Given the description of an element on the screen output the (x, y) to click on. 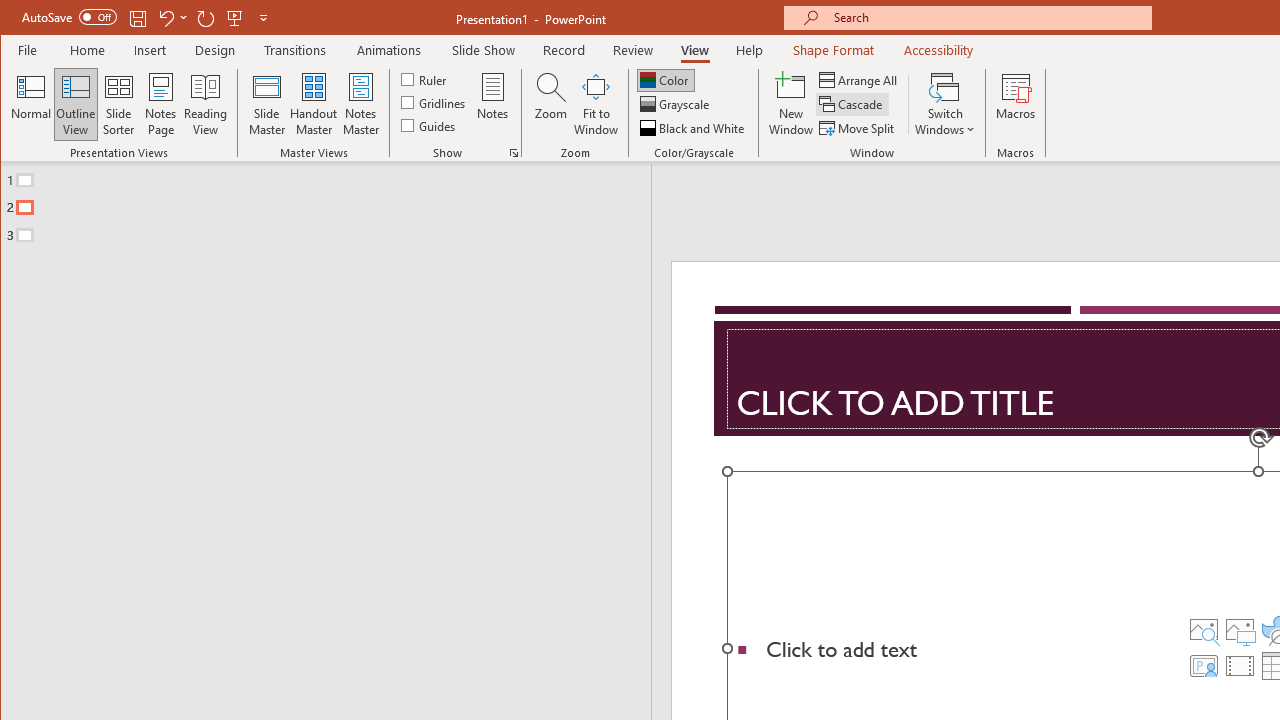
Guides (430, 124)
Notes (493, 104)
Grayscale (676, 103)
Outline View (75, 104)
